Given the description of an element on the screen output the (x, y) to click on. 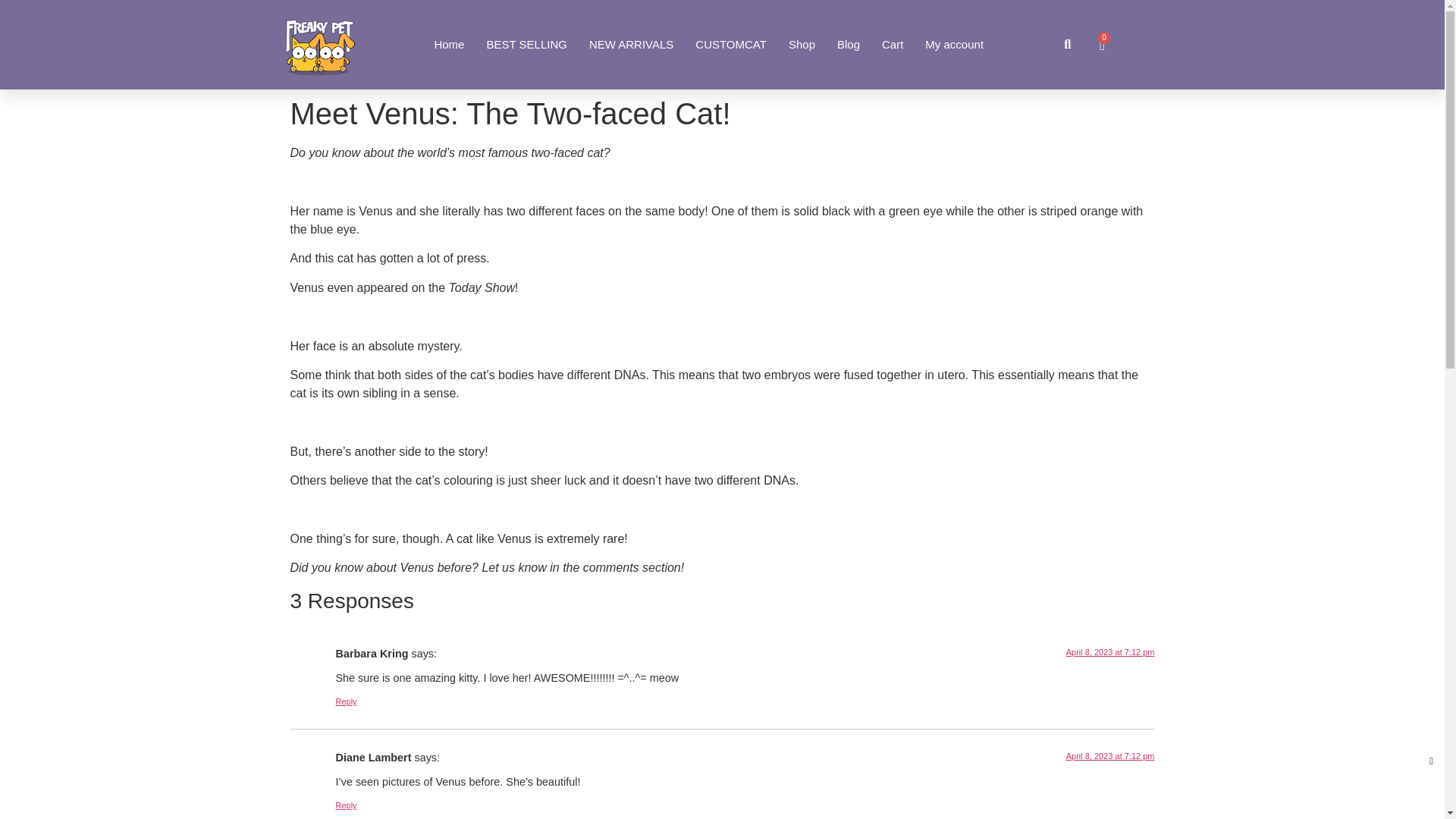
CUSTOMCAT (731, 44)
My account (954, 44)
Shop (802, 44)
BEST SELLING (526, 44)
NEW ARRIVALS (630, 44)
Home (448, 44)
